Given the description of an element on the screen output the (x, y) to click on. 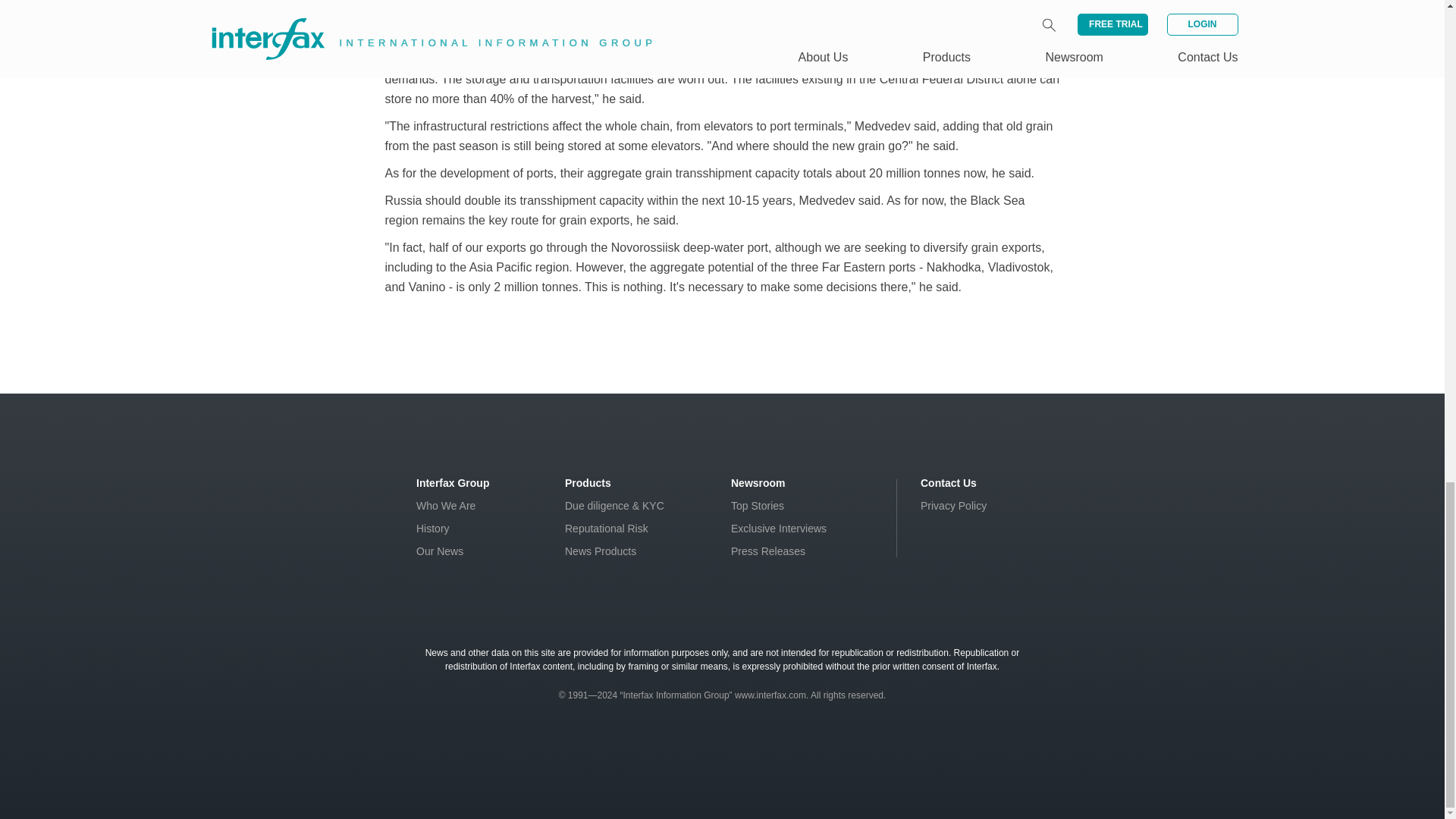
Who We Are (446, 505)
History (432, 528)
Interfax Group (452, 482)
Our News (439, 551)
